Given the description of an element on the screen output the (x, y) to click on. 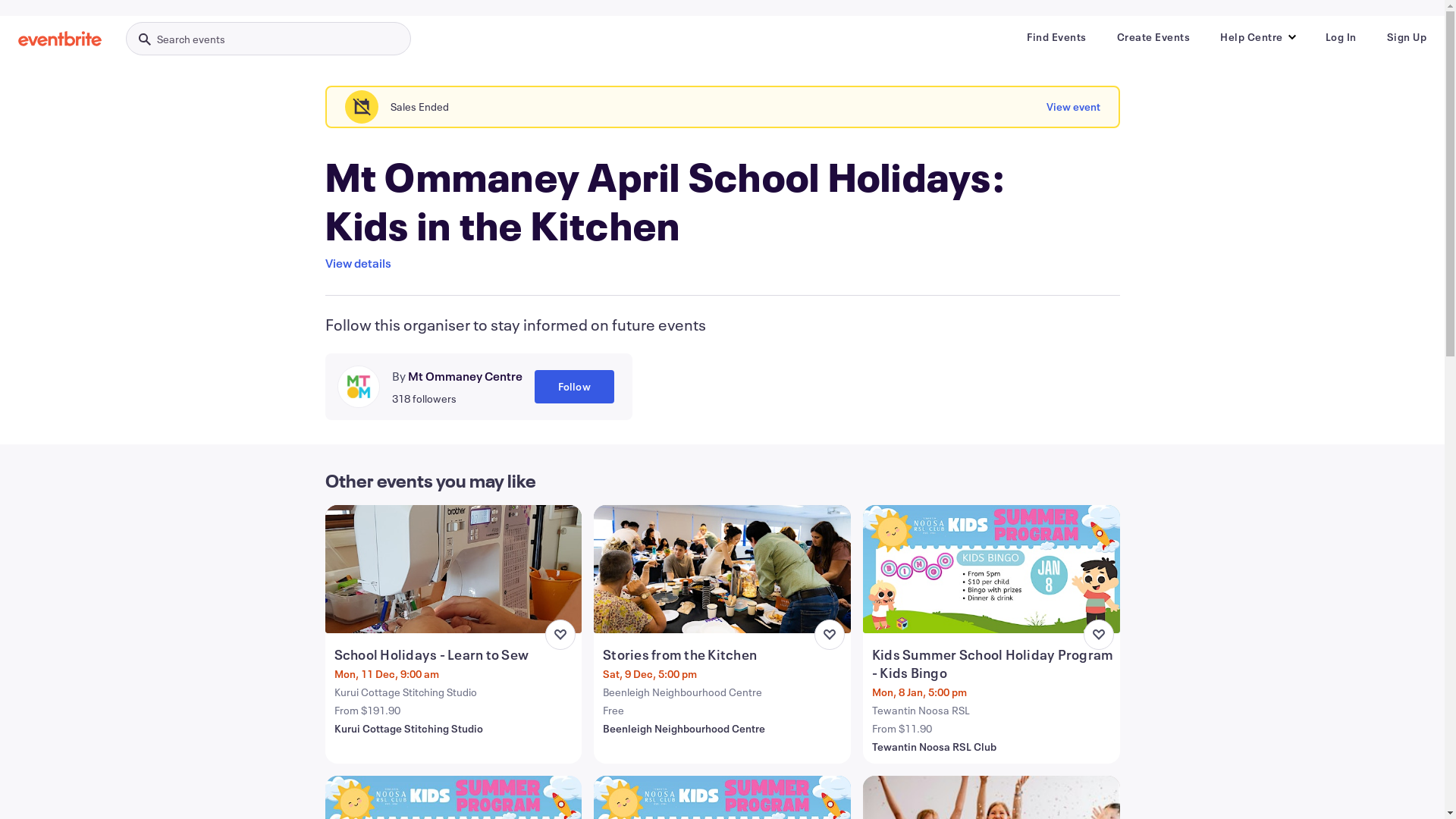
Create Events Element type: text (1152, 36)
Search events Element type: text (268, 38)
View details Element type: text (357, 262)
Find Events Element type: text (1056, 36)
Stories from the Kitchen Element type: text (723, 654)
School Holidays - Learn to Sew Element type: text (454, 654)
Follow Element type: text (573, 386)
Sign Up Element type: text (1406, 36)
Kids Summer School Holiday Program - Kids Bingo Element type: text (992, 663)
Eventbrite Element type: hover (59, 38)
Log In Element type: text (1340, 36)
View event Element type: text (1073, 106)
